Given the description of an element on the screen output the (x, y) to click on. 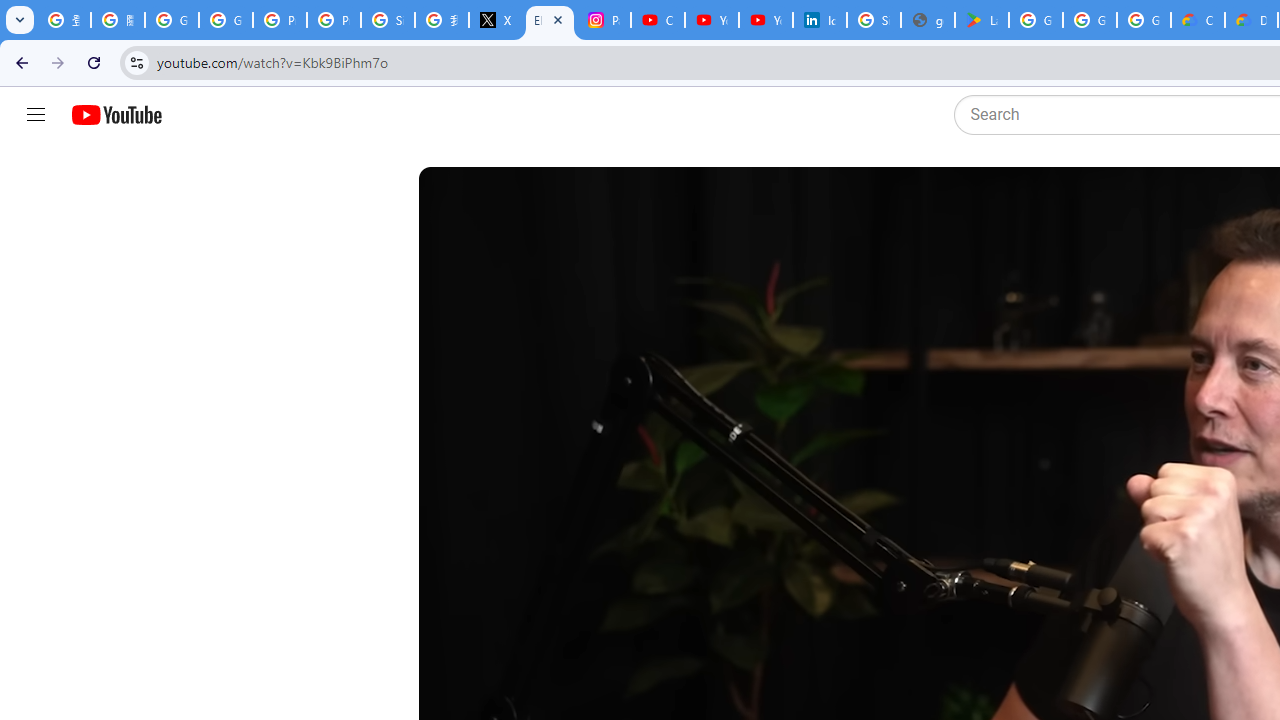
Privacy Help Center - Policies Help (333, 20)
Google Workspace - Specific Terms (1089, 20)
Guide (35, 115)
Google Workspace - Specific Terms (1144, 20)
google_privacy_policy_en.pdf (927, 20)
Sign in - Google Accounts (387, 20)
